Given the description of an element on the screen output the (x, y) to click on. 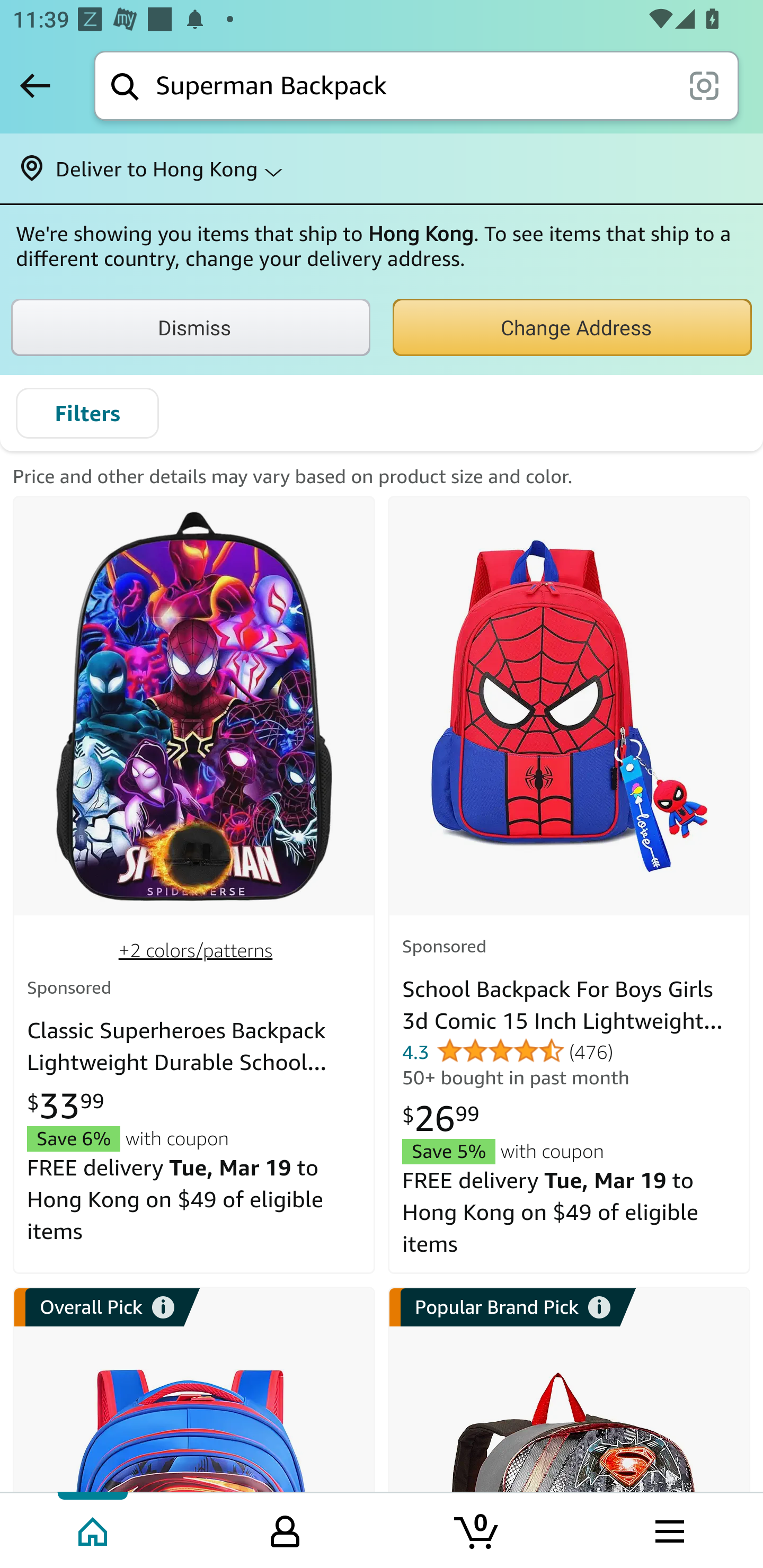
Back (35, 85)
Search Search Superman Backpack scan it (416, 85)
scan it (704, 85)
Deliver to Hong Kong ⌵ (381, 168)
Dismiss (190, 327)
Change Address (571, 327)
Filters (87, 413)
+2 colors/patterns (195, 950)
Home Tab 1 of 4 (94, 1529)
Your Amazon.com Tab 2 of 4 (285, 1529)
Cart 0 item Tab 3 of 4 0 (477, 1529)
Browse menu Tab 4 of 4 (668, 1529)
